Given the description of an element on the screen output the (x, y) to click on. 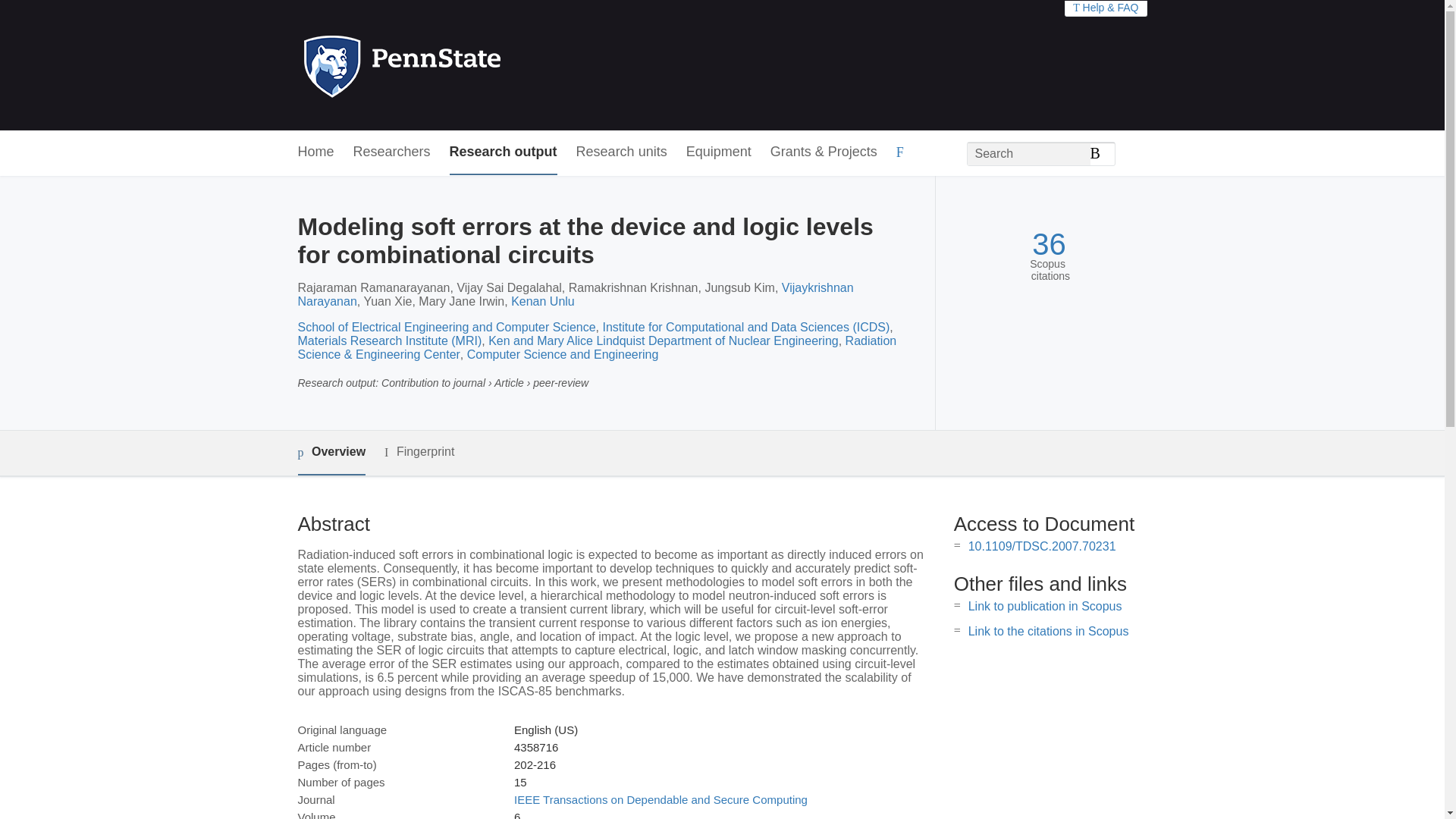
Fingerprint (419, 452)
Kenan Unlu (543, 300)
Researchers (391, 152)
Link to the citations in Scopus (1048, 631)
Research output (503, 152)
Research units (621, 152)
School of Electrical Engineering and Computer Science (446, 327)
Penn State Home (467, 65)
36 (1048, 243)
